Given the description of an element on the screen output the (x, y) to click on. 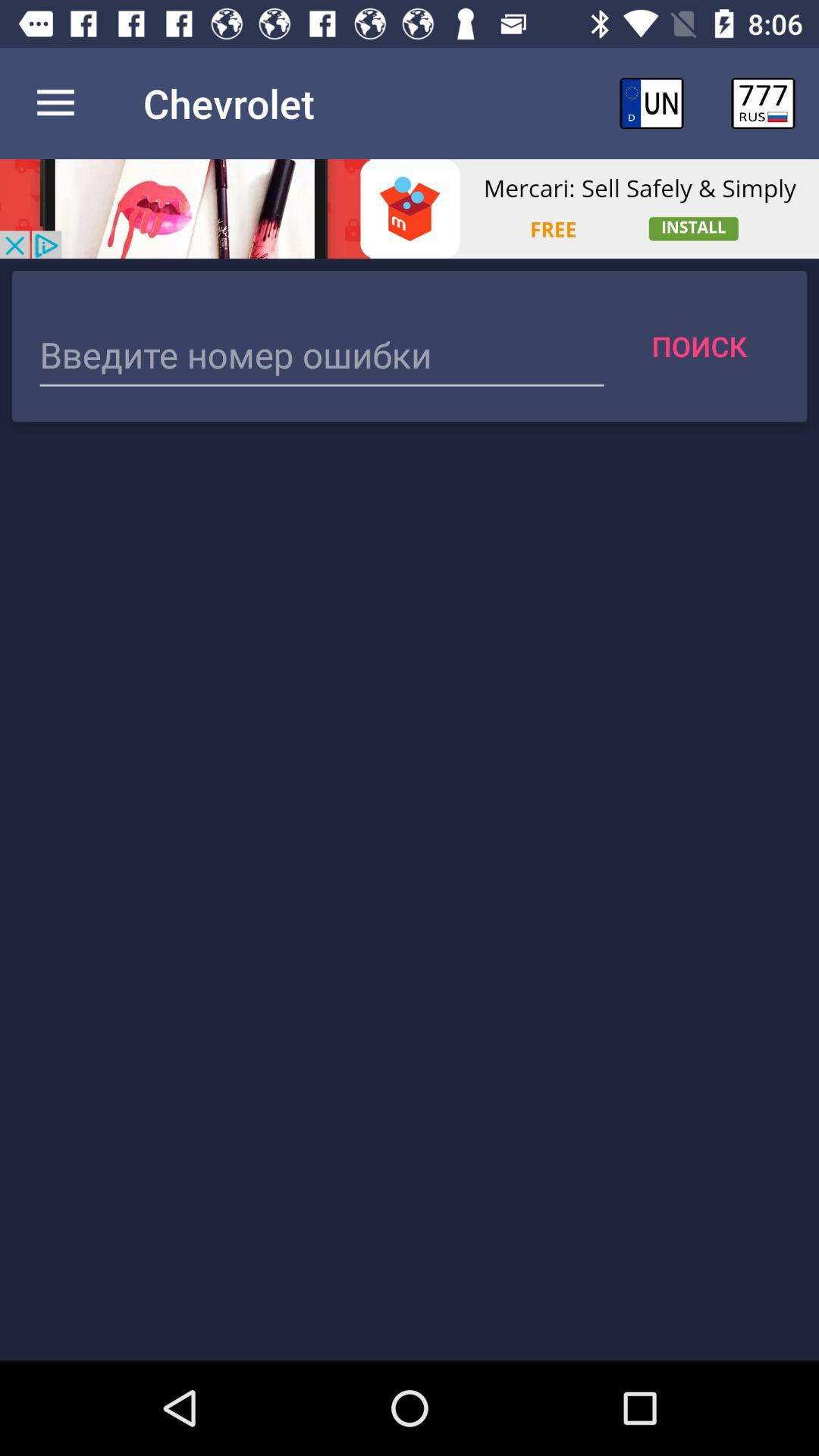
visit the advertiser page (409, 208)
